Given the description of an element on the screen output the (x, y) to click on. 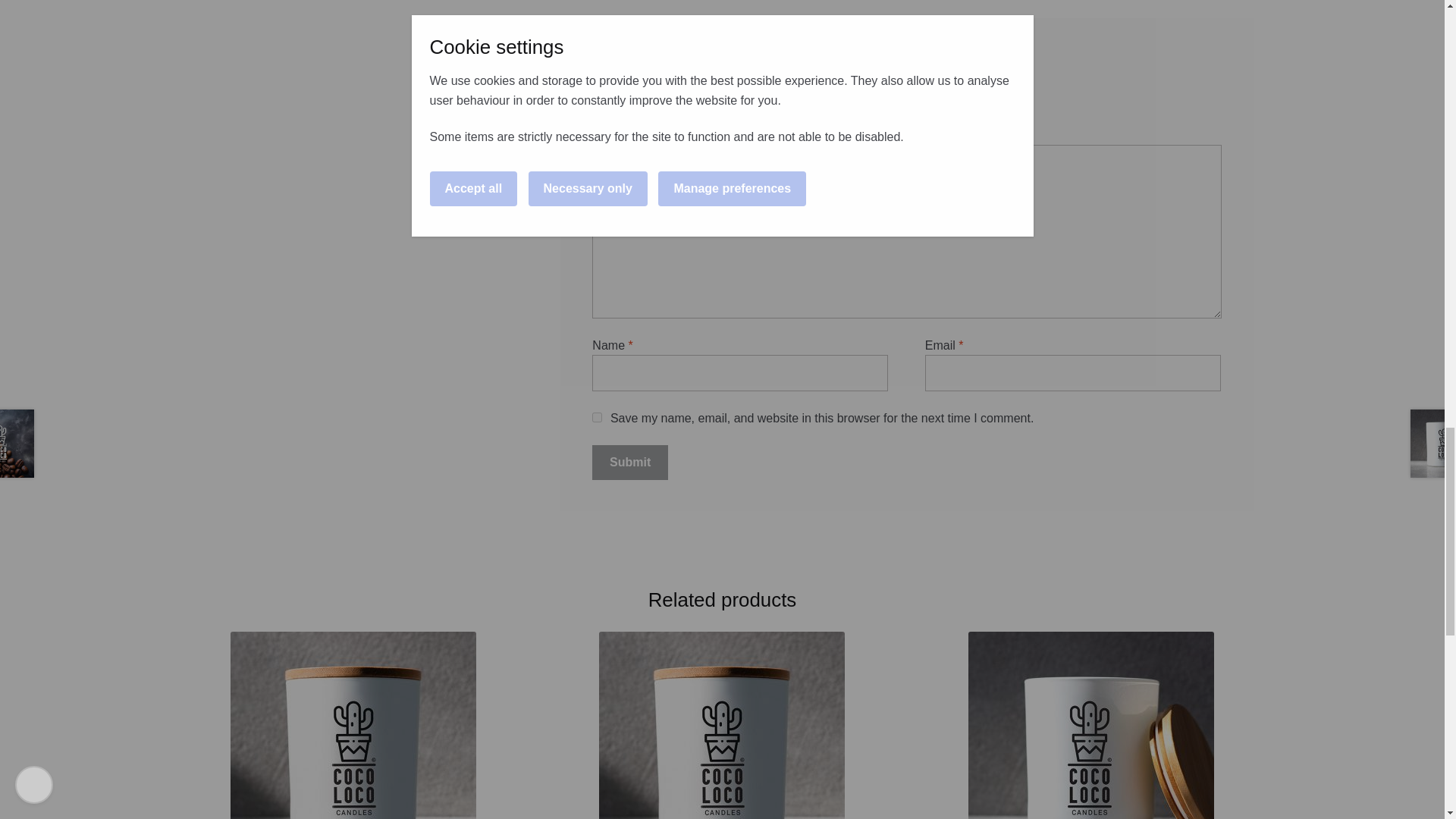
yes (597, 417)
Submit (630, 462)
Submit (630, 462)
